Given the description of an element on the screen output the (x, y) to click on. 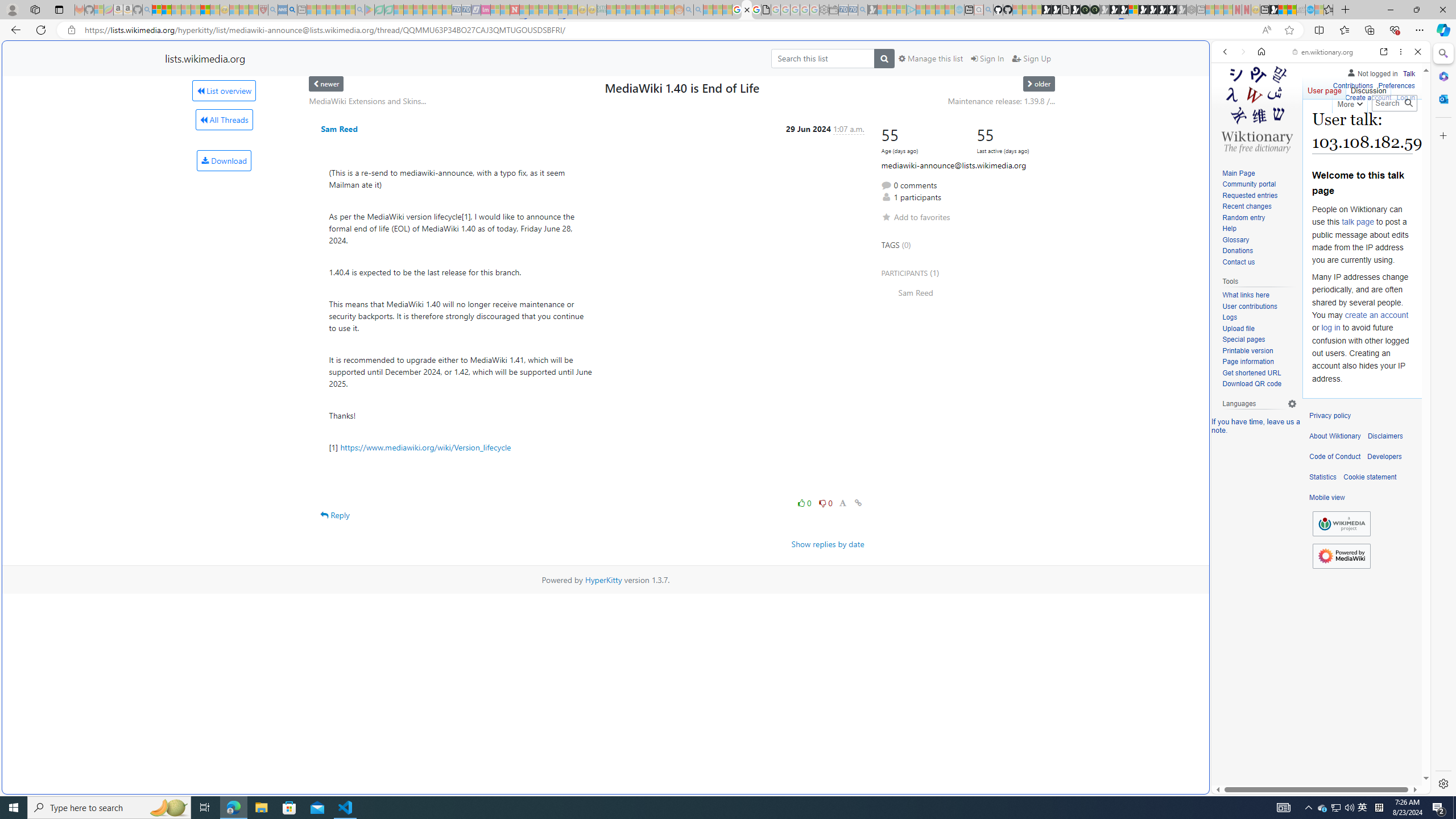
Create account (1367, 98)
talk page (1357, 221)
Help (1259, 229)
Code of Conduct (1334, 456)
Preferences (1403, 129)
Page information (1247, 361)
Search Filter, IMAGES (1262, 129)
Code of Conduct (1334, 456)
Visit the main page (1257, 108)
